Given the description of an element on the screen output the (x, y) to click on. 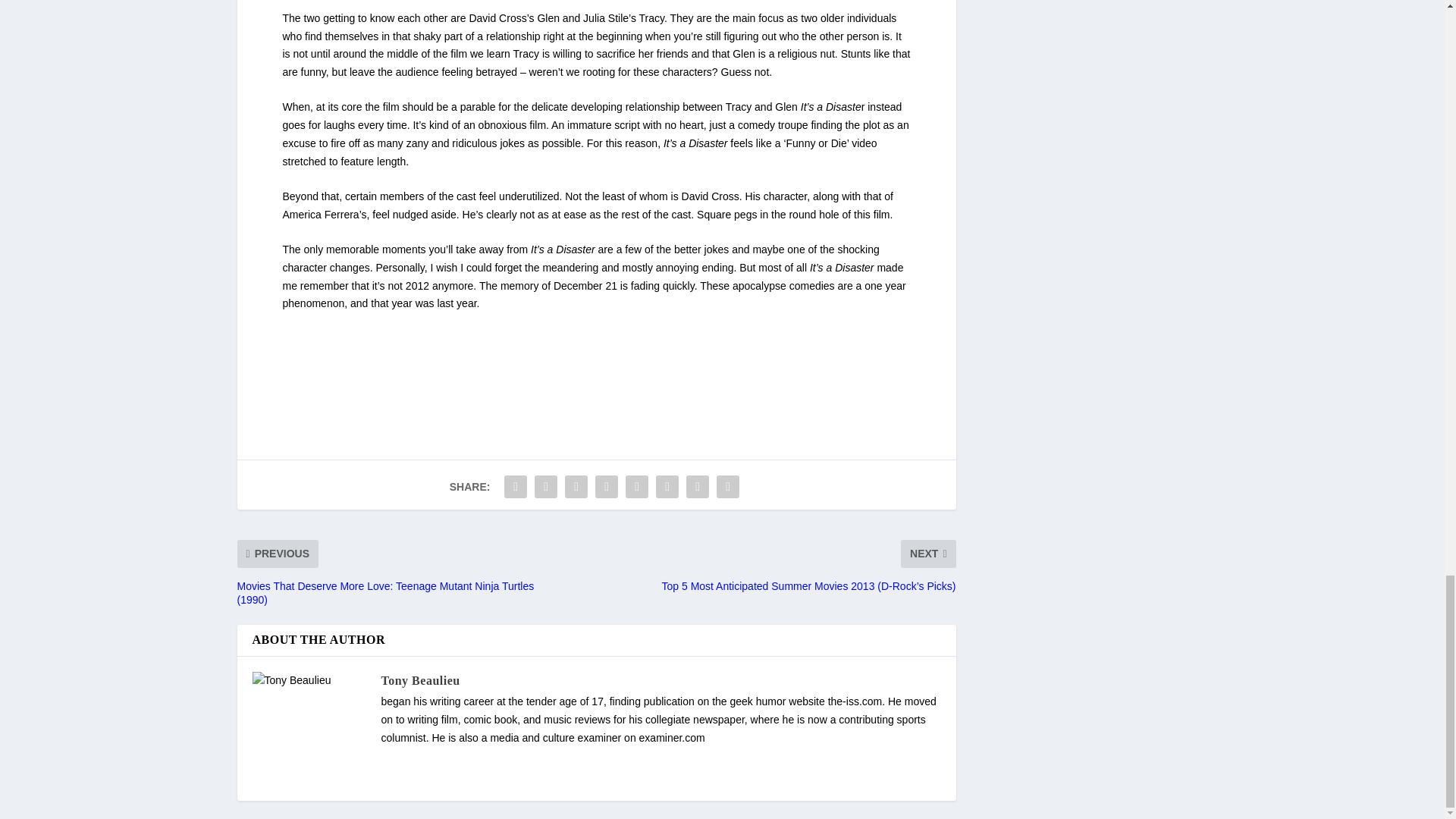
View all posts by Tony Beaulieu (420, 680)
Tony Beaulieu (420, 680)
